Given the description of an element on the screen output the (x, y) to click on. 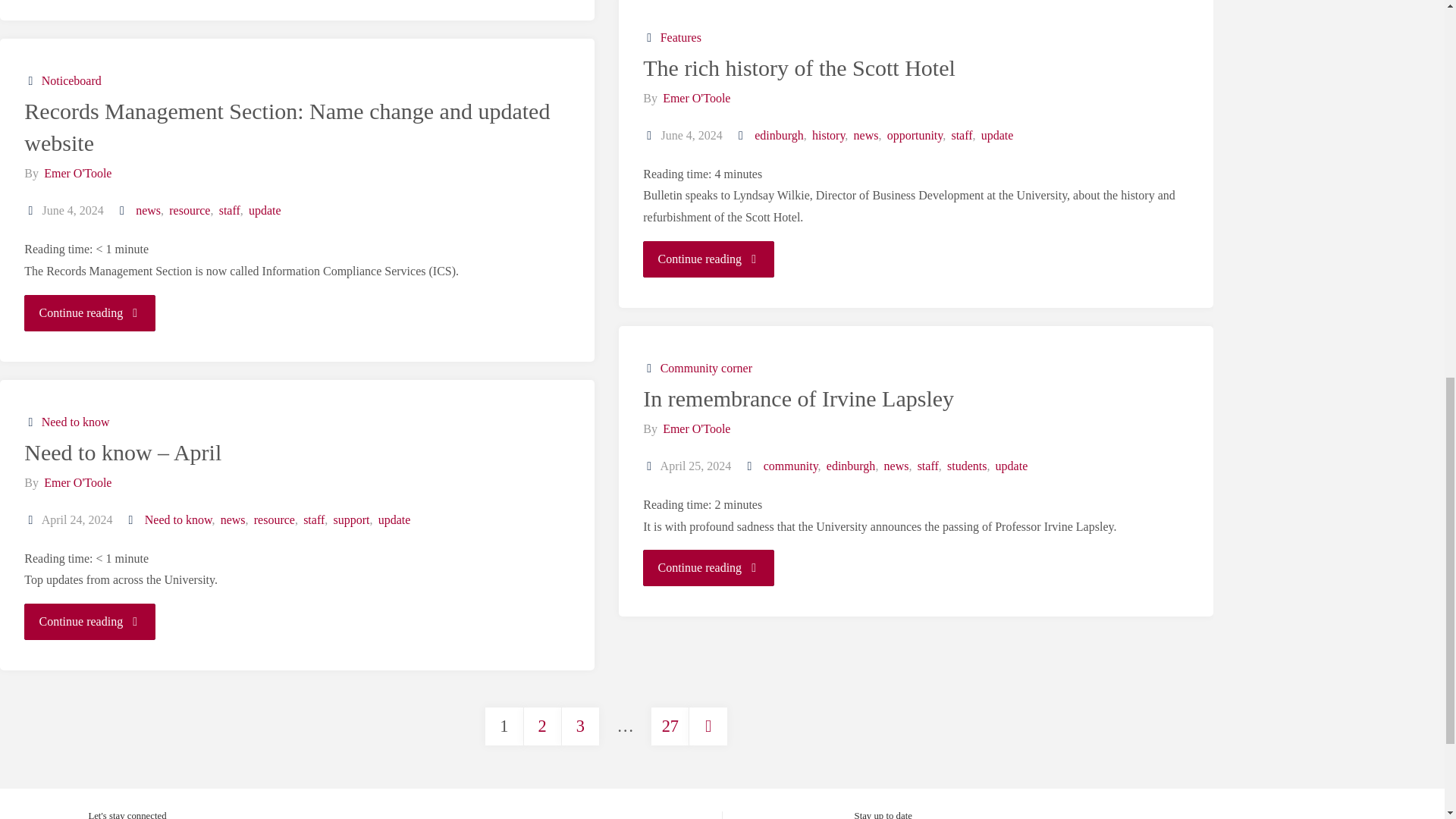
Categories (650, 37)
Date (650, 134)
View all posts by Emer O'Toole (695, 97)
